Given the description of an element on the screen output the (x, y) to click on. 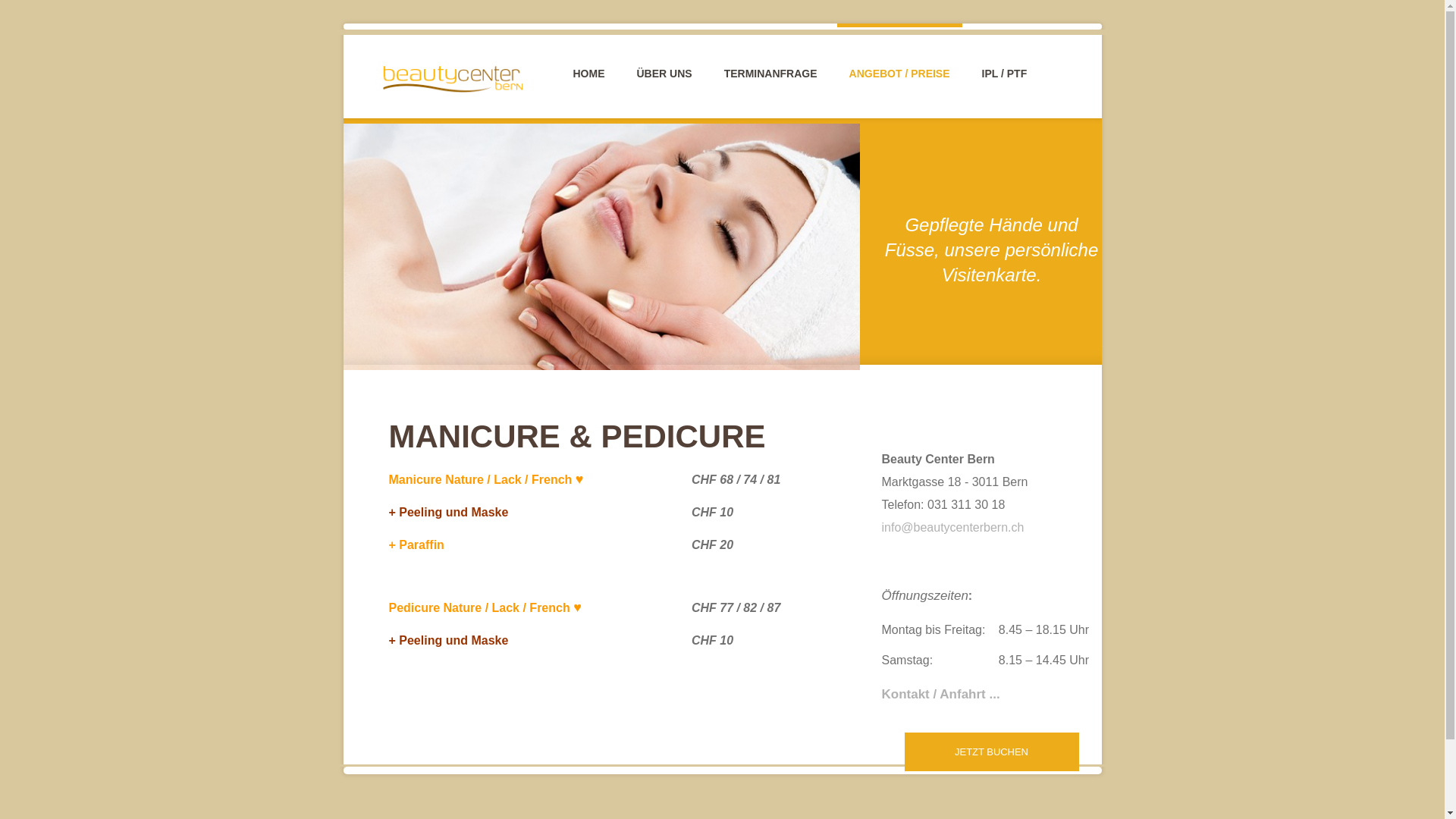
JETZT BUCHEN Element type: text (990, 751)
POWER PLATE Element type: text (611, 115)
ANGEBOT / PREISE Element type: text (899, 51)
TERMINANFRAGE Element type: text (770, 51)
IPL / PTF Element type: text (1004, 51)
Kontakt / Anfahrt ... Element type: text (940, 694)
info@beautycenterbern.ch Element type: text (952, 526)
HOME Element type: text (589, 51)
